Given the description of an element on the screen output the (x, y) to click on. 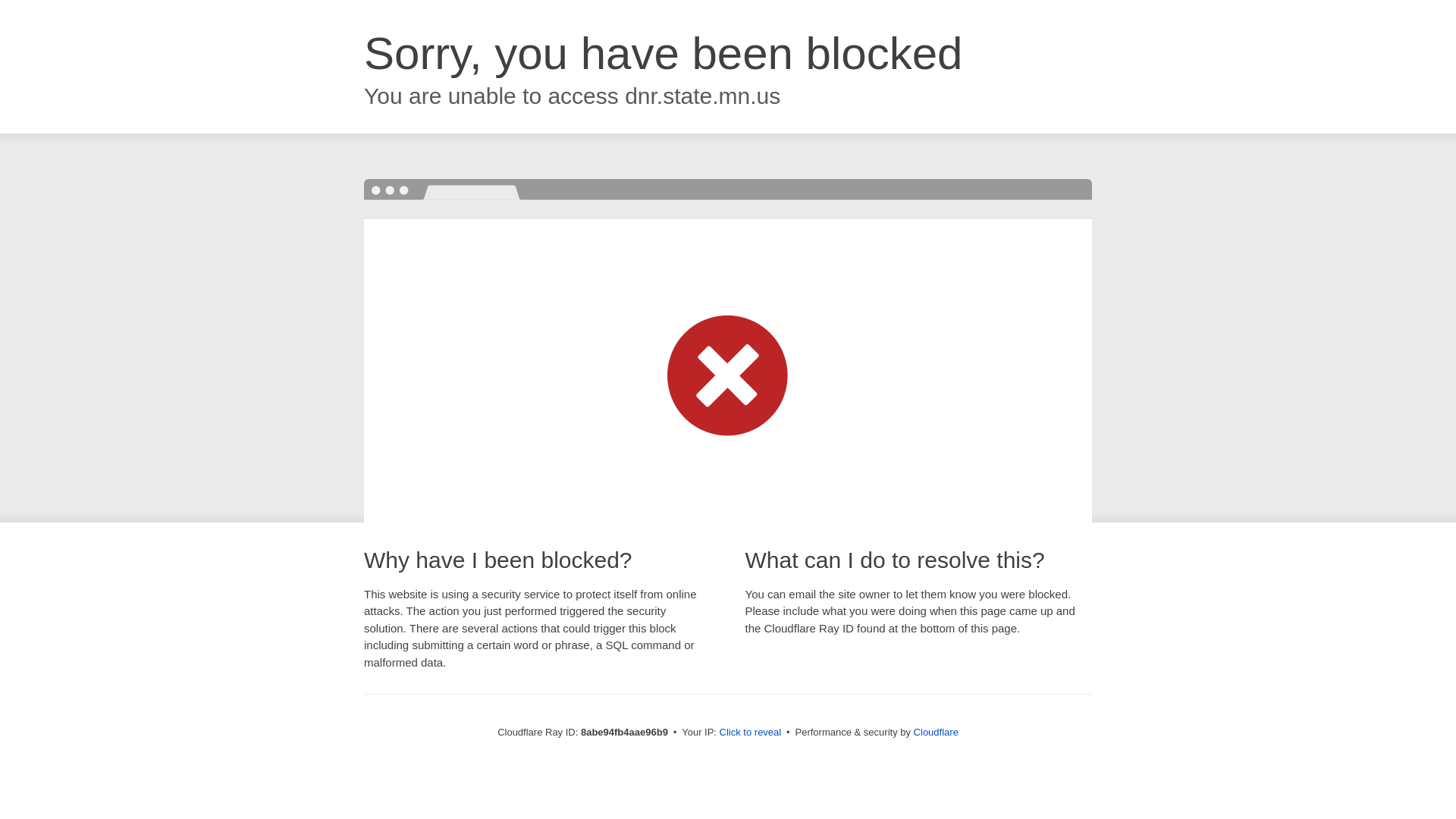
Click to reveal (750, 732)
Cloudflare (936, 731)
